Given the description of an element on the screen output the (x, y) to click on. 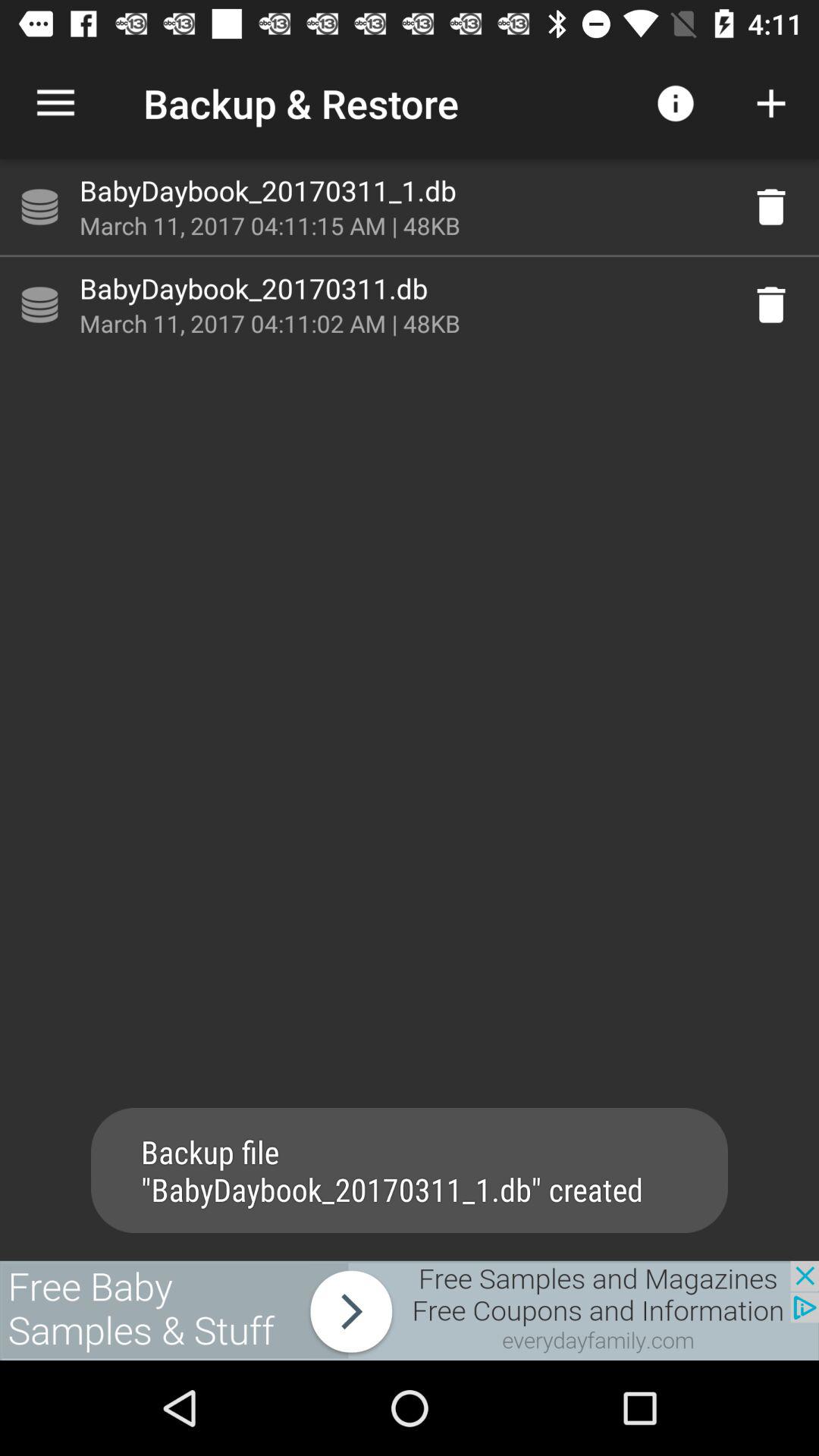
link to advertisement (409, 1310)
